Given the description of an element on the screen output the (x, y) to click on. 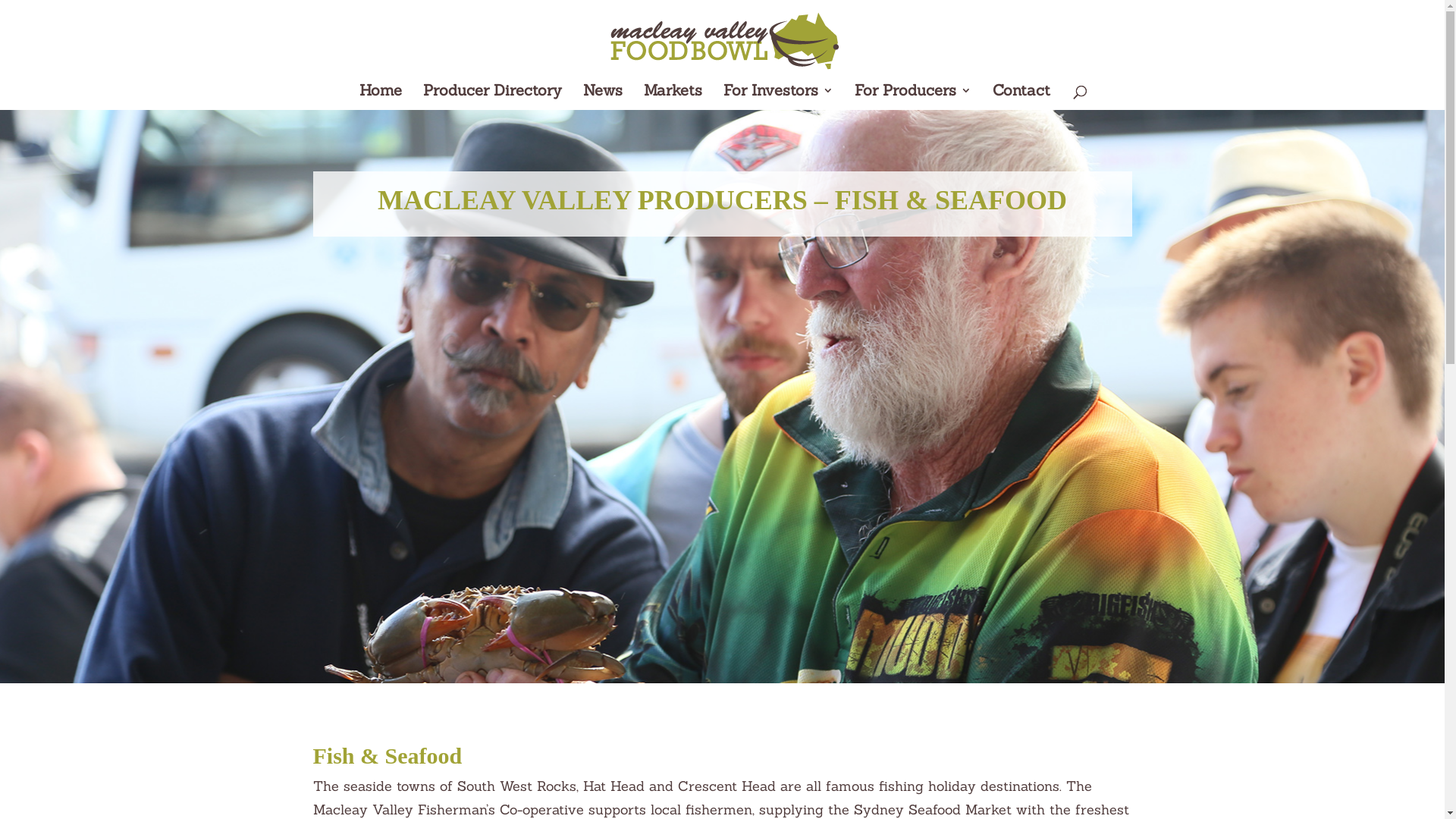
Contact Element type: text (1021, 96)
Producer Directory Element type: text (492, 96)
Markets Element type: text (672, 96)
News Element type: text (602, 96)
For Investors Element type: text (778, 96)
For Producers Element type: text (912, 96)
Home Element type: text (380, 96)
